Given the description of an element on the screen output the (x, y) to click on. 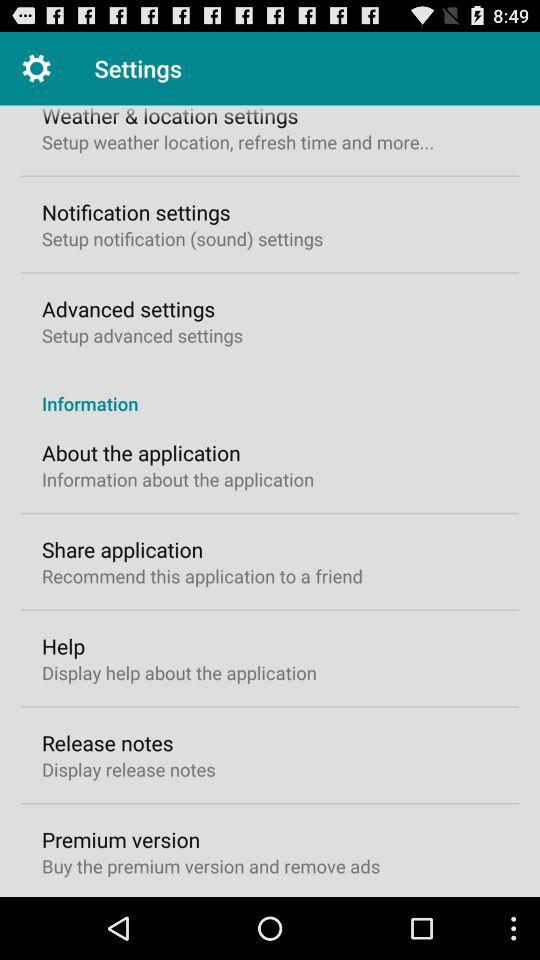
tap item next to the settings item (36, 68)
